Given the description of an element on the screen output the (x, y) to click on. 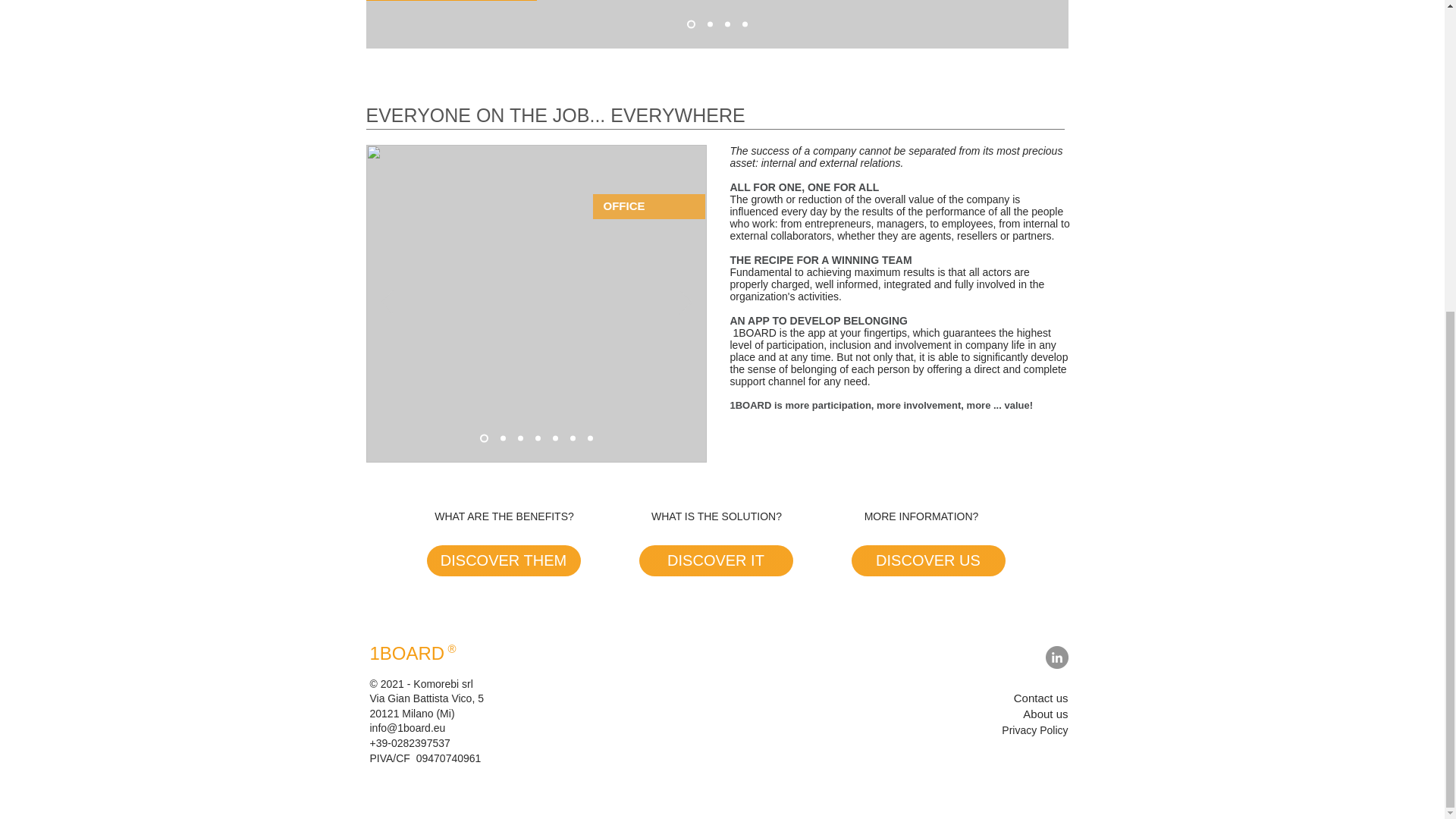
DISCOVER THEM (502, 560)
1BOARD (407, 652)
Contact us (1040, 697)
About us (1045, 713)
Privacy Policy (1034, 729)
DISCOVER US (927, 560)
DISCOVER IT (715, 560)
